Given the description of an element on the screen output the (x, y) to click on. 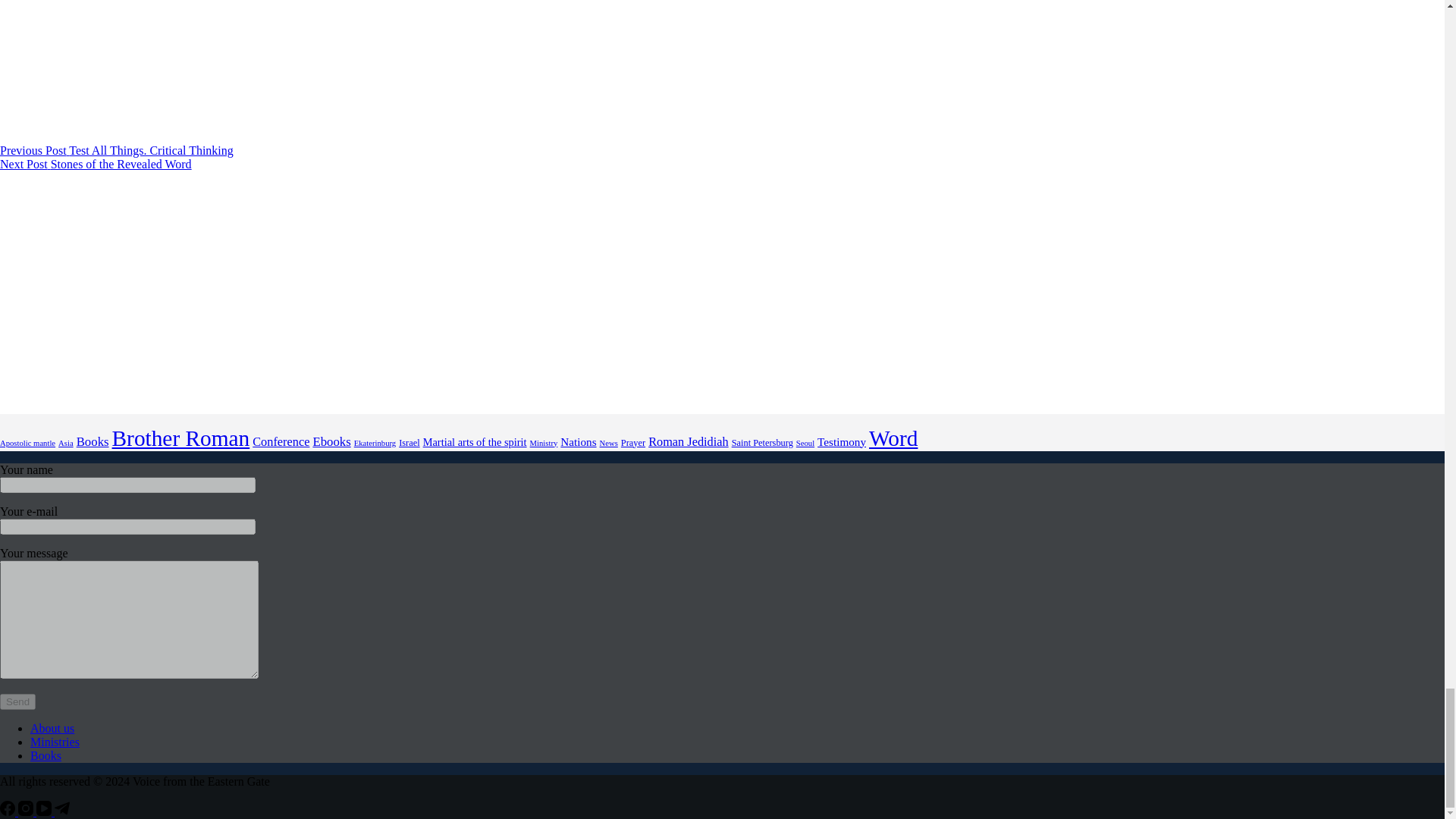
Send (17, 701)
